Given the description of an element on the screen output the (x, y) to click on. 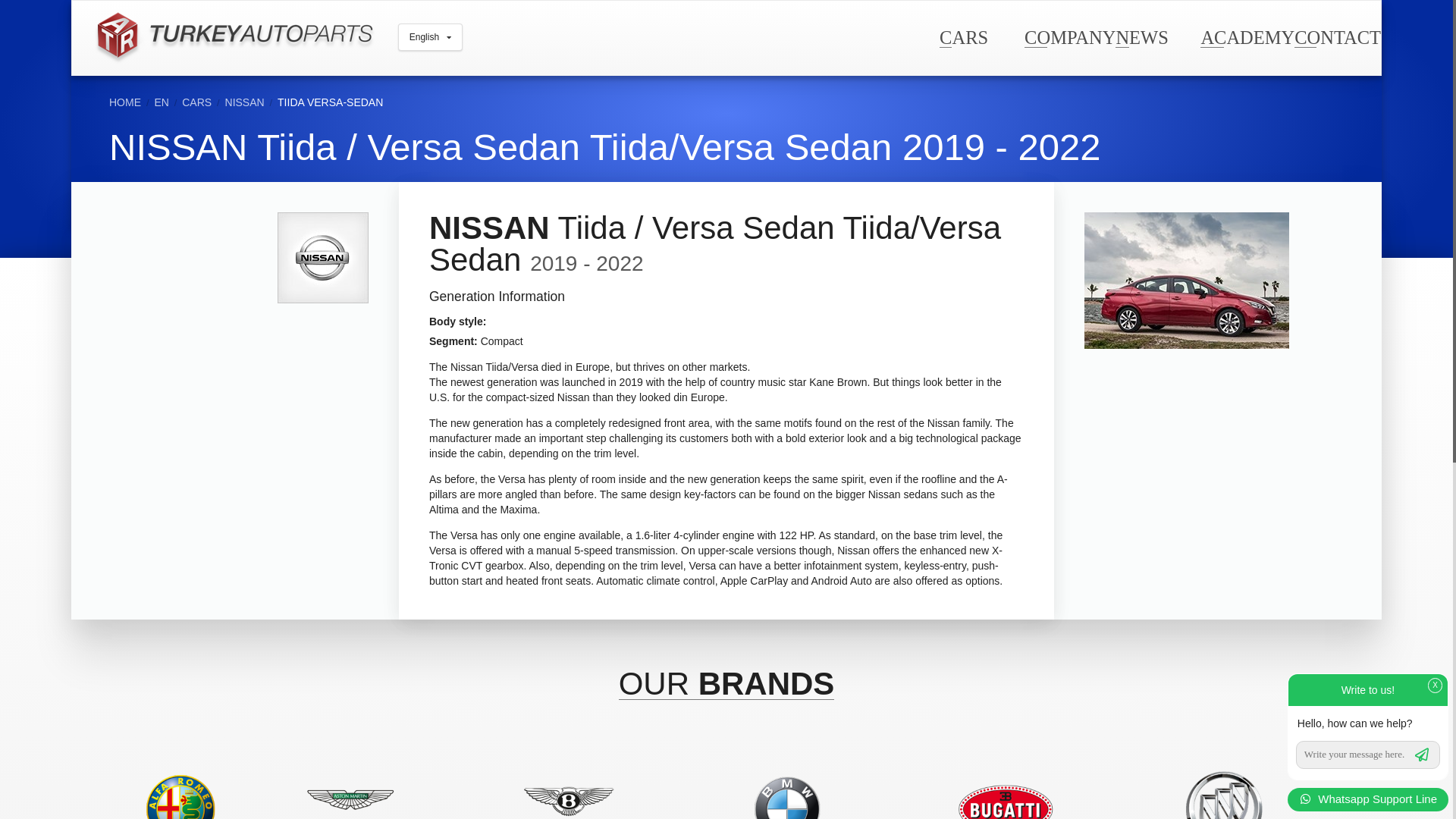
ACADEMY (1246, 37)
HOME (125, 102)
CONTACT (1337, 37)
NISSAN (244, 102)
TIIDA VERSA-SEDAN (330, 102)
EN (161, 102)
CARS (196, 102)
NEWS (1141, 37)
COMPANY (1070, 37)
CARS (963, 37)
